Given the description of an element on the screen output the (x, y) to click on. 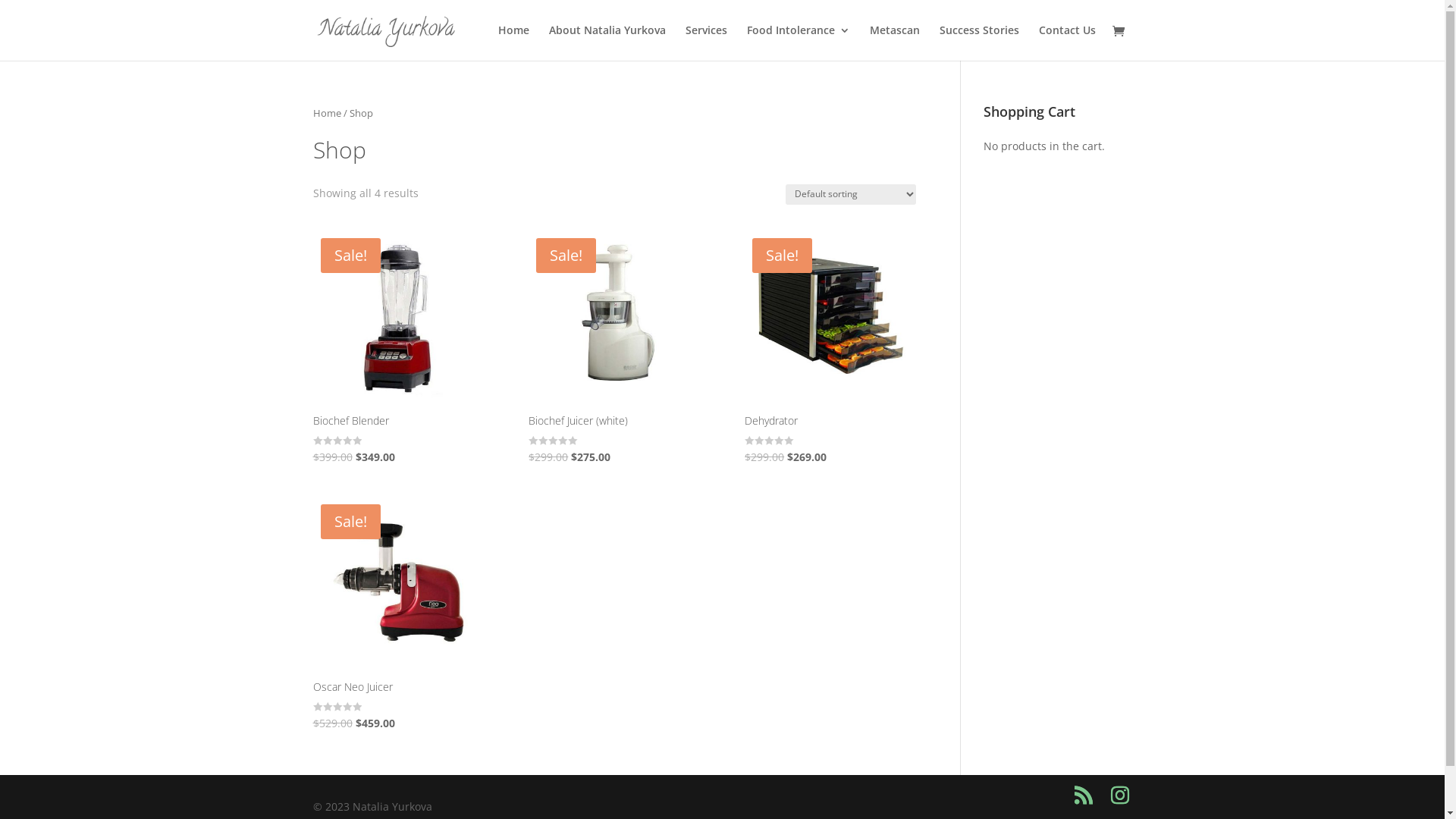
Home Element type: text (512, 42)
Home Element type: text (326, 112)
Contact Us Element type: text (1066, 42)
About Natalia Yurkova Element type: text (607, 42)
Success Stories Element type: text (978, 42)
Metascan Element type: text (894, 42)
Services Element type: text (706, 42)
Sale!
Dehydrator
$299.00 $269.00 Element type: text (829, 348)
Sale!
Biochef Blender
$399.00 $349.00 Element type: text (397, 348)
Food Intolerance Element type: text (797, 42)
Sale!
Oscar Neo Juicer
$529.00 $459.00 Element type: text (397, 614)
Sale!
Biochef Juicer (white)
$299.00 $275.00 Element type: text (613, 348)
